Given the description of an element on the screen output the (x, y) to click on. 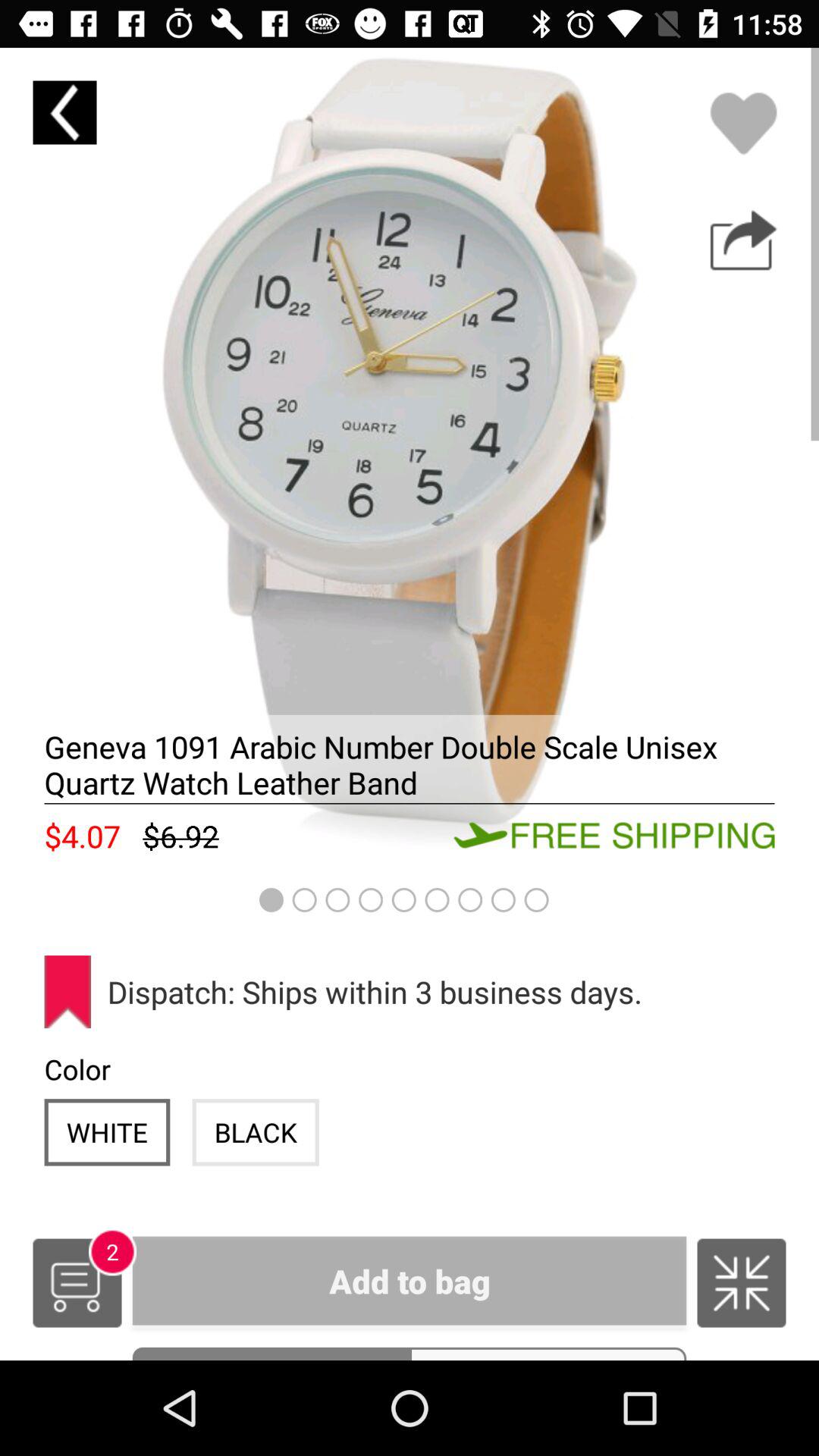
turn on the item to the left of the sizes (270, 1353)
